Given the description of an element on the screen output the (x, y) to click on. 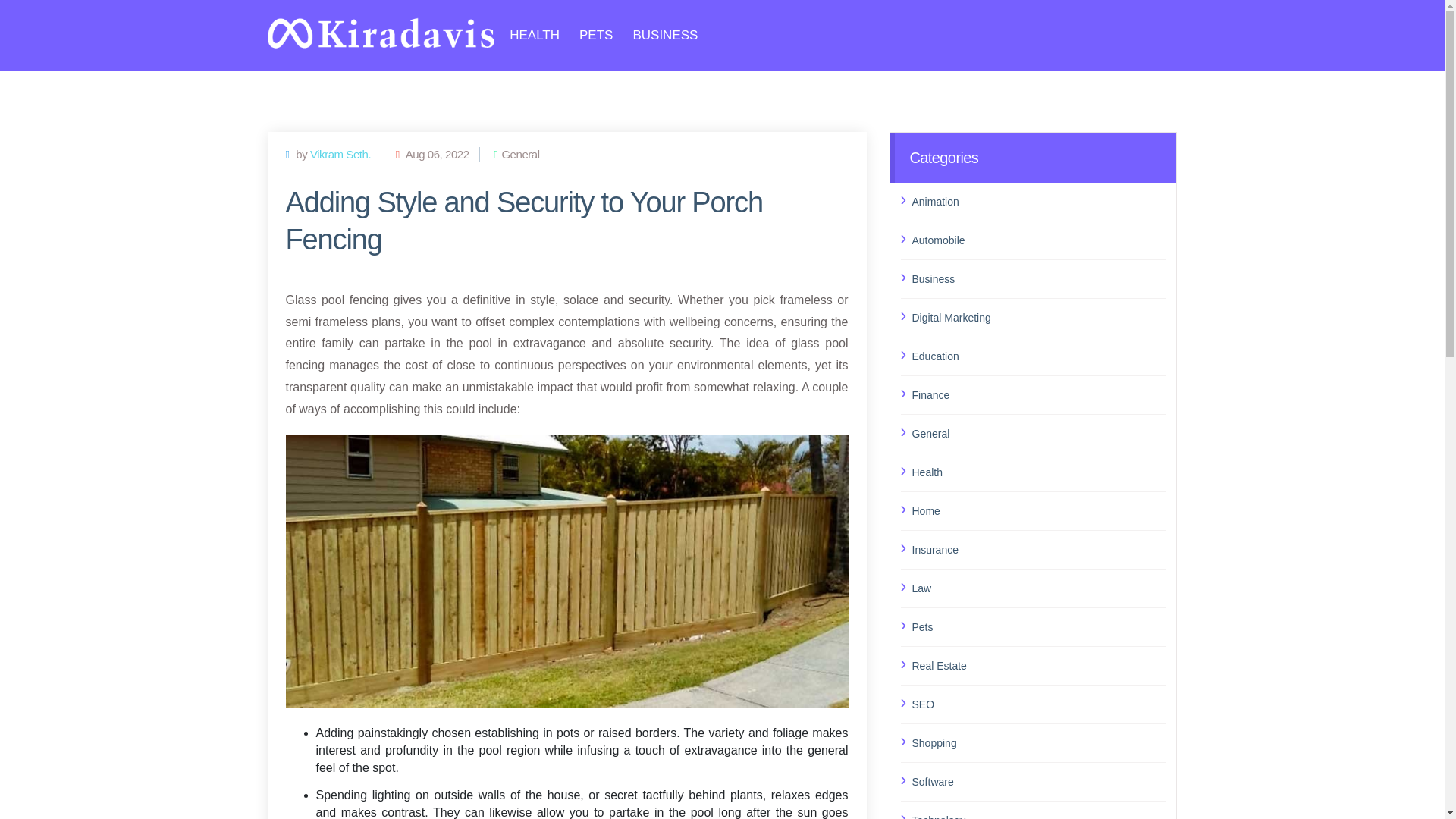
Education (1038, 355)
General (1038, 433)
Insurance (1038, 549)
Pets (1038, 627)
Real Estate (1038, 664)
BUSINESS (664, 35)
Finance (1038, 394)
Health (1038, 472)
Shopping (1038, 742)
Business (1038, 278)
Technology (1038, 814)
PETS (595, 35)
Digital Marketing (1038, 317)
Animation (1038, 200)
Software (1038, 781)
